Given the description of an element on the screen output the (x, y) to click on. 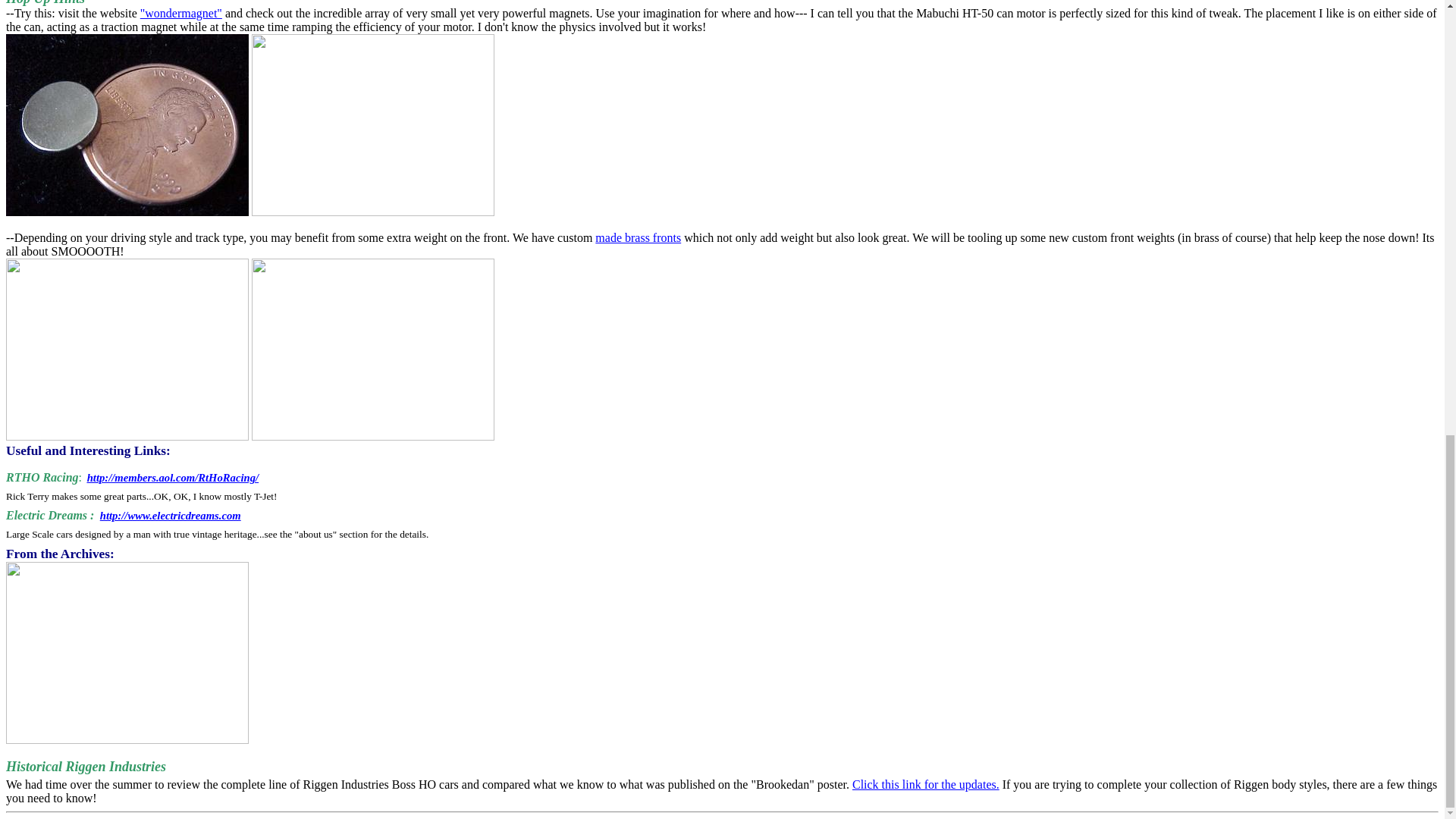
Click this link for the updates. (924, 784)
made brass fronts (638, 237)
"wondermagnet" (180, 12)
